Given the description of an element on the screen output the (x, y) to click on. 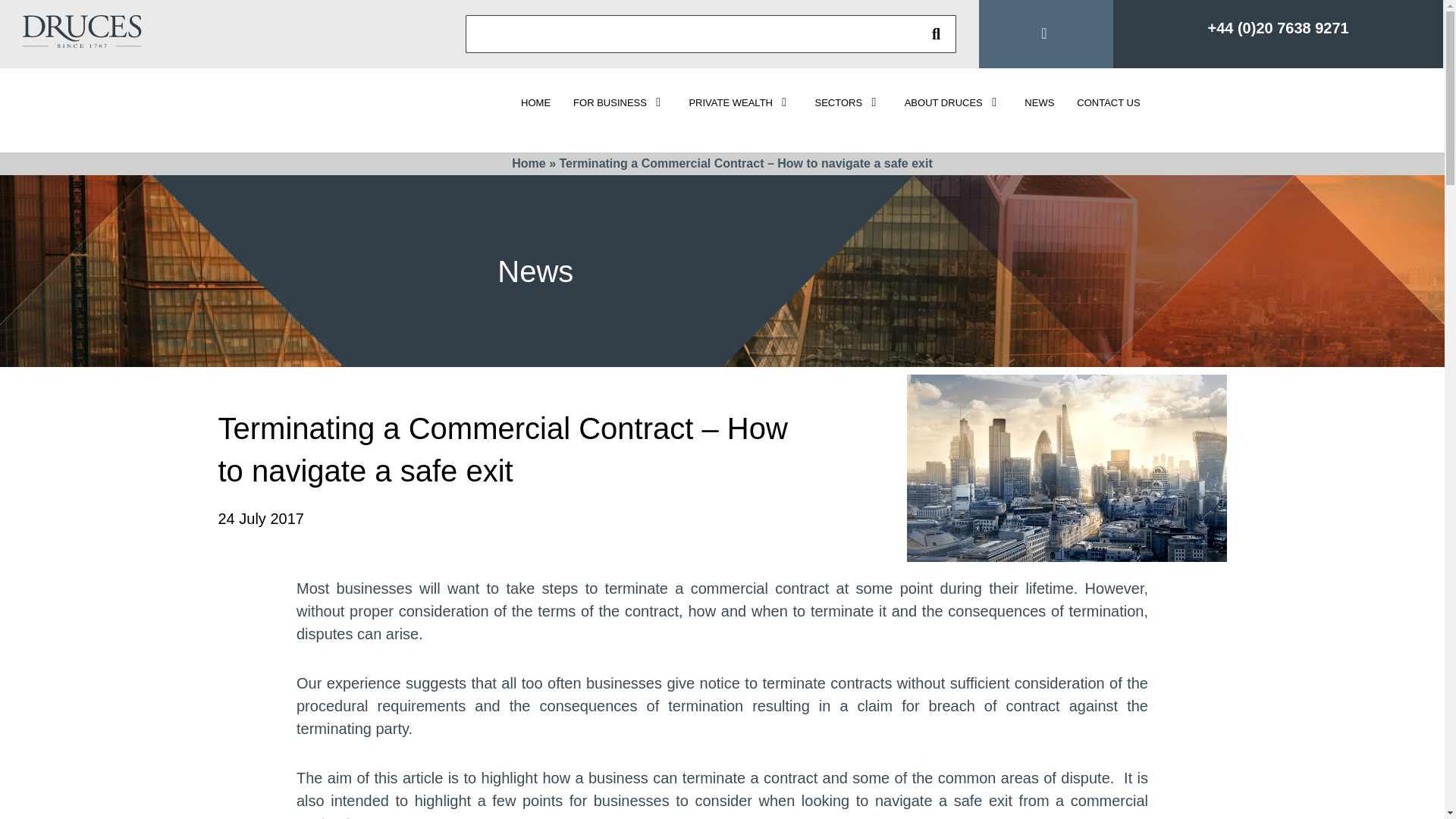
FOR BUSINESS (619, 101)
Search (936, 33)
HOME (535, 101)
